Given the description of an element on the screen output the (x, y) to click on. 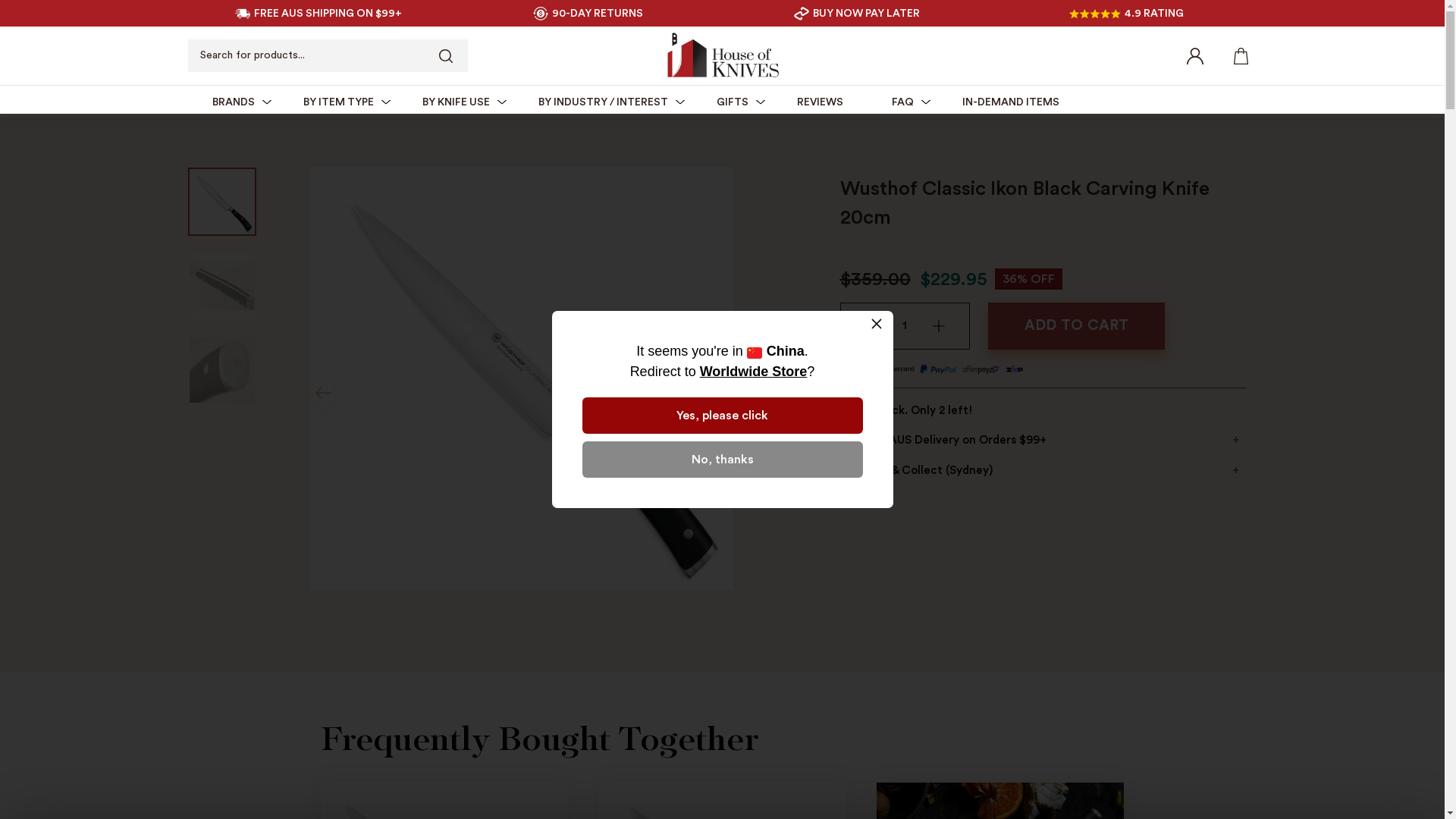
header.search.submit Element type: text (445, 55)
GIFTS Element type: text (731, 101)
ADD TO CART Element type: text (1076, 325)
Quantity Minus Element type: text (870, 326)
BY ITEM TYPE Element type: text (338, 101)
Login / Signup Element type: hover (1193, 55)
IN-DEMAND ITEMS Element type: text (1009, 101)
REVIEWS Element type: text (819, 101)
Worldwide Store Element type: text (753, 371)
Free AUS Delivery on Orders $99+ Element type: text (1043, 440)
FAQ Element type: text (902, 101)
BY INDUSTRY / INTEREST Element type: text (603, 101)
4.9 RATING Element type: text (1126, 13)
Quantity Plus Element type: text (938, 325)
Click & Collect (Sydney) Element type: text (1043, 470)
Yes, please click Element type: text (722, 415)
BRANDS Element type: text (233, 101)
No, thanks Element type: text (722, 459)
BY KNIFE USE Element type: text (455, 101)
